Given the description of an element on the screen output the (x, y) to click on. 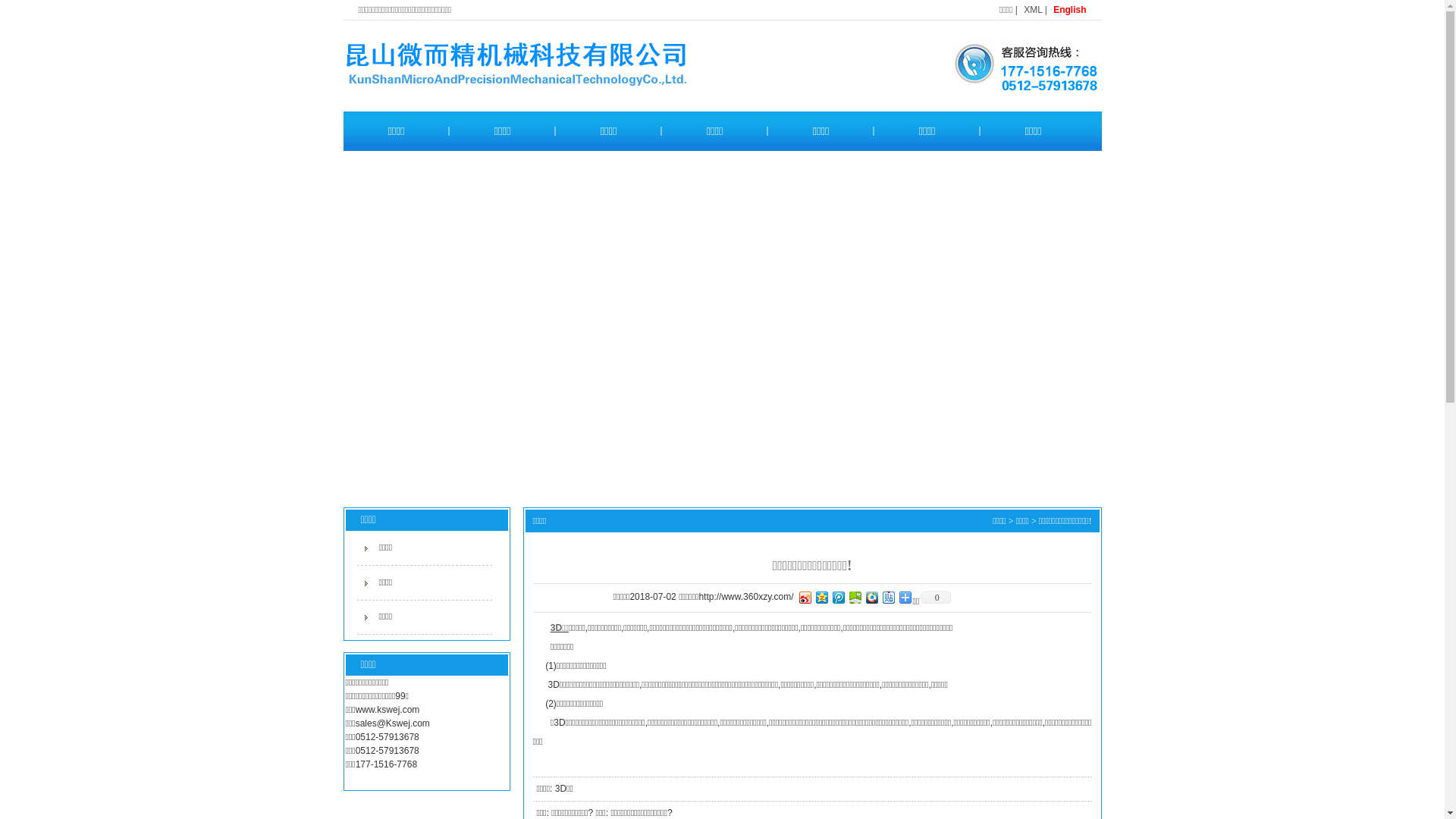
XML Element type: text (1032, 9)
0 Element type: text (934, 597)
1535606383755091.jpg Element type: hover (1016, 65)
1547896042809111.jpg Element type: hover (556, 65)
English Element type: text (1069, 9)
